Given the description of an element on the screen output the (x, y) to click on. 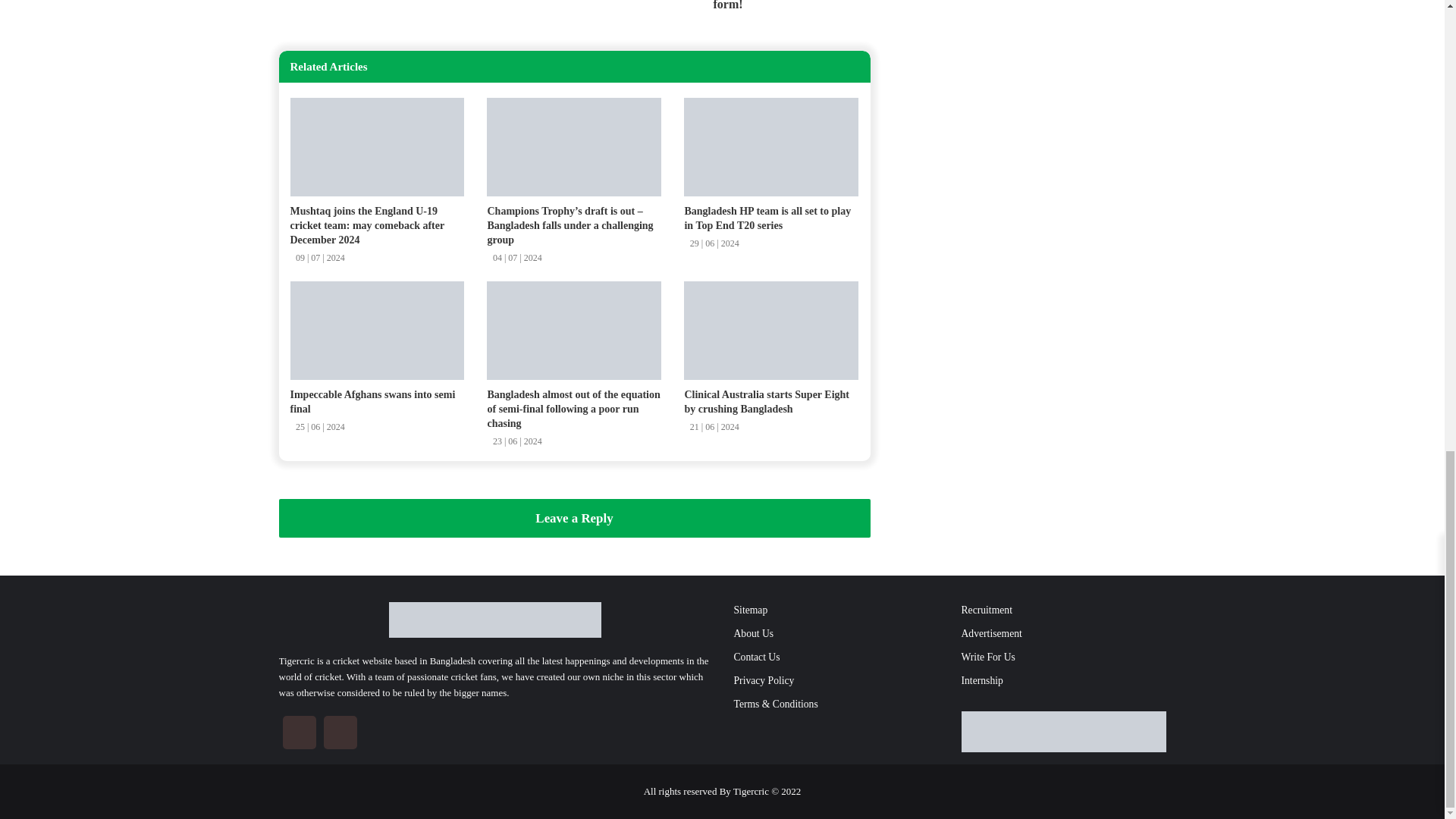
Clinical Australia starts Super Eight by crushing Bangladesh (766, 401)
Virat to play against Zimbabwe to return in form! (727, 6)
Bangladesh HP team is all set to play in Top End T20 series (767, 217)
Leave a Reply (574, 517)
Impeccable Afghans swans into semi final (371, 401)
